Given the description of an element on the screen output the (x, y) to click on. 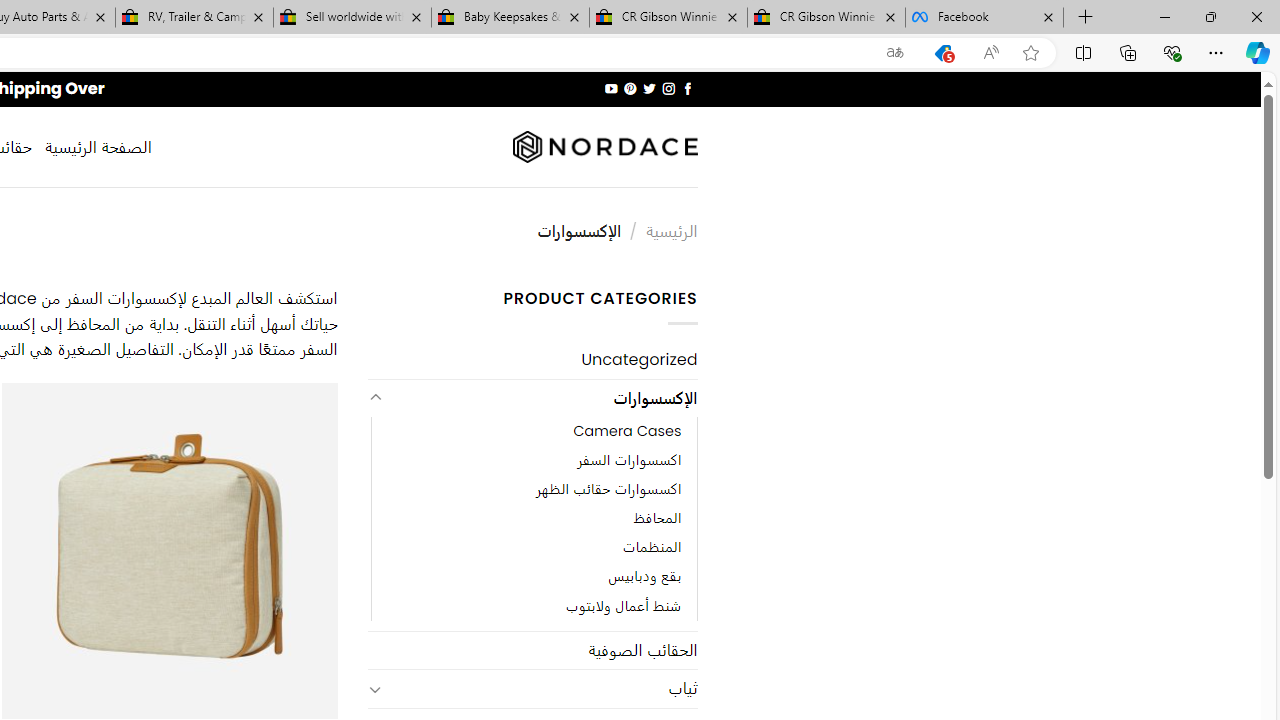
Uncategorized (532, 359)
Collections (1128, 52)
Baby Keepsakes & Announcements for sale | eBay (509, 17)
Follow on Twitter (648, 88)
Facebook (984, 17)
Nordace (604, 147)
Close (1256, 16)
